Given the description of an element on the screen output the (x, y) to click on. 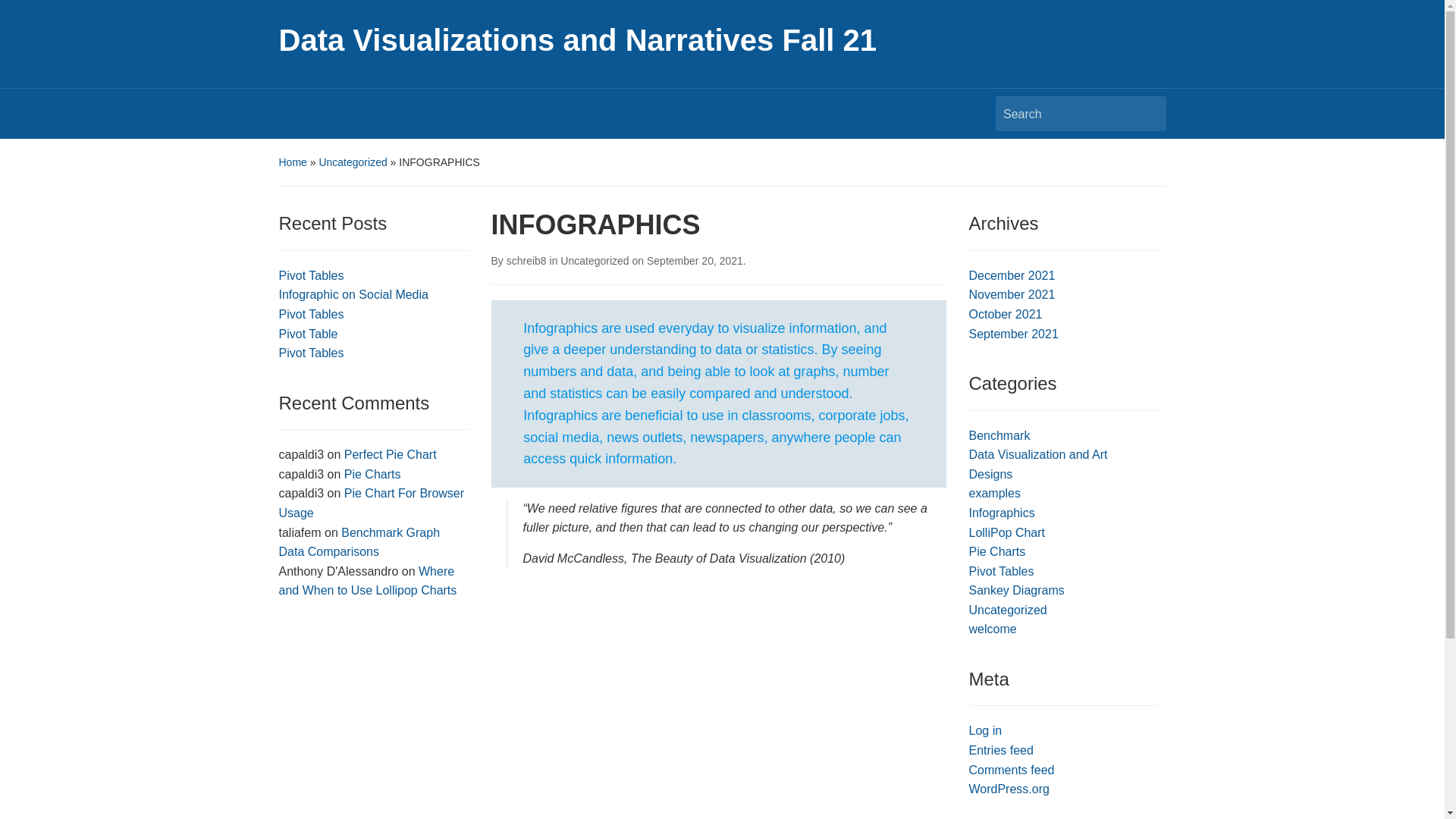
November 2021 (1012, 294)
LolliPop Chart (1007, 532)
Pie Charts (372, 473)
David McCandless: The beauty of data visualization (719, 699)
Log in (986, 730)
Infographic on Social Media (353, 294)
Infographics (1002, 512)
Pivot Tables (1001, 571)
Sankey Diagrams (1016, 590)
Pivot Tables (311, 314)
